Given the description of an element on the screen output the (x, y) to click on. 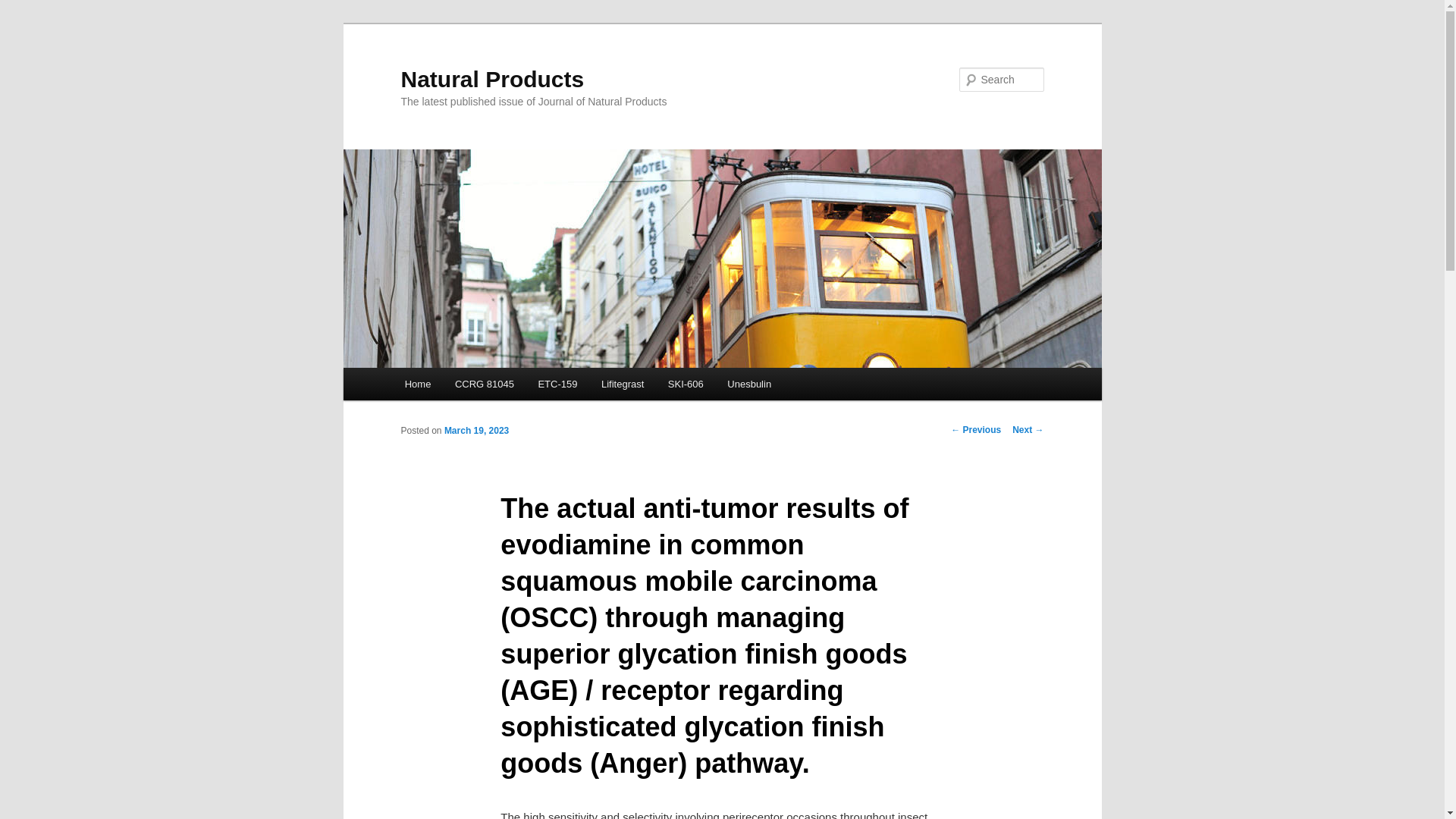
Search (24, 8)
Skip to primary content (472, 386)
Skip to secondary content (479, 386)
Skip to secondary content (479, 386)
Unesbulin (749, 383)
Lifitegrast (622, 383)
ETC-159 (557, 383)
March 19, 2023 (476, 430)
SKI-606 (685, 383)
Home (417, 383)
